Given the description of an element on the screen output the (x, y) to click on. 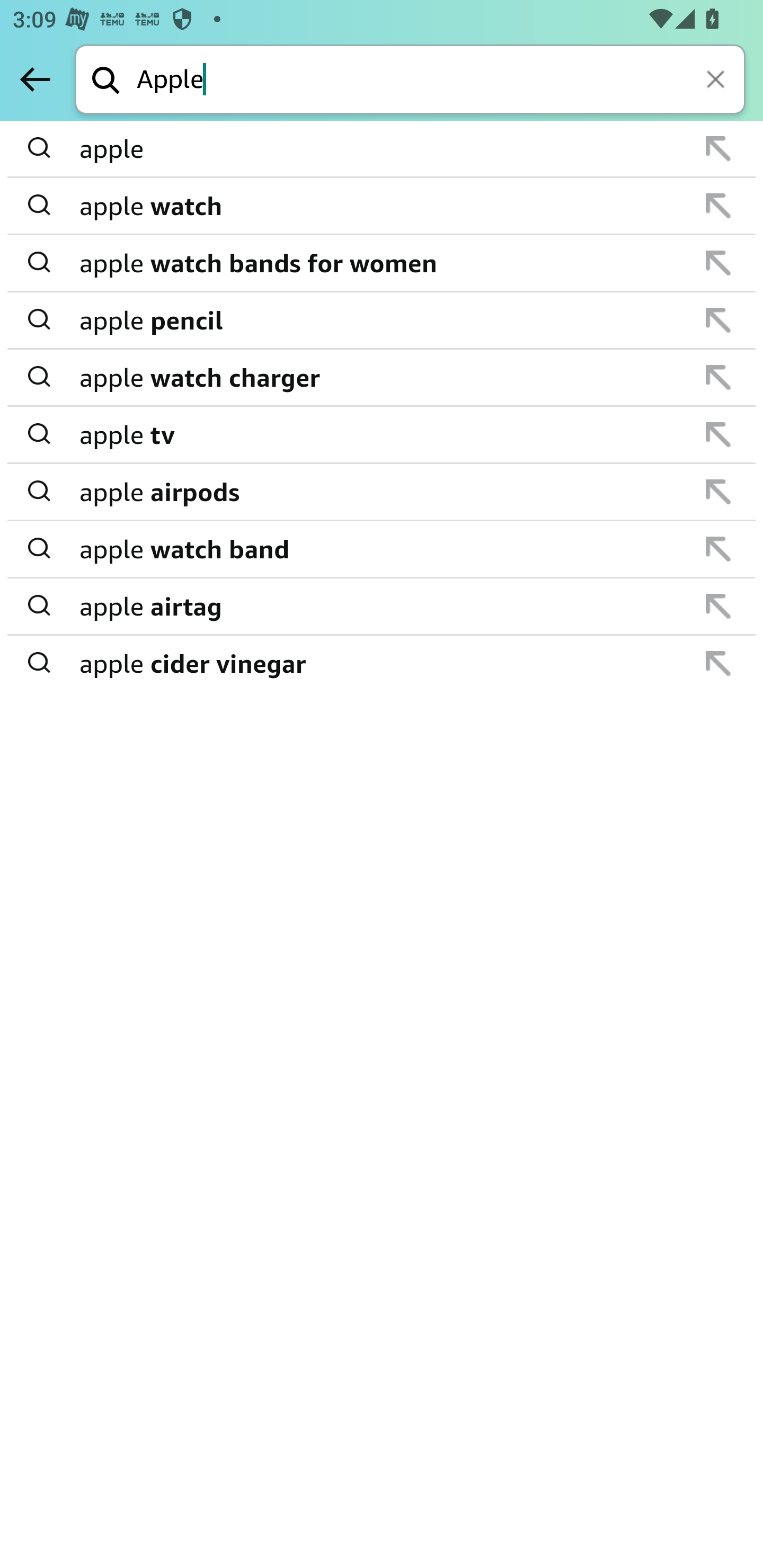
Apple (440, 80)
Clear search keywords (717, 80)
Back (35, 78)
append suggestion apple (381, 149)
apple (382, 149)
append suggestion (718, 147)
apple watch (382, 205)
append suggestion apple watch (381, 206)
append suggestion (718, 205)
apple watch bands for women (382, 262)
append suggestion apple watch bands for women (381, 263)
append suggestion (718, 262)
apple pencil (382, 319)
append suggestion apple pencil (381, 320)
append suggestion (718, 319)
apple watch charger (382, 377)
append suggestion apple watch charger (381, 377)
append suggestion (718, 376)
apple tv (382, 434)
append suggestion apple tv (381, 435)
append suggestion (718, 434)
apple airpods (382, 491)
append suggestion apple airpods (381, 492)
append suggestion (718, 491)
apple watch band (382, 548)
append suggestion apple watch band (381, 549)
append suggestion (718, 548)
apple airtag (382, 606)
append suggestion apple airtag (381, 606)
append suggestion (718, 605)
apple cider vinegar (382, 662)
append suggestion apple cider vinegar (381, 663)
append suggestion (718, 663)
